Given the description of an element on the screen output the (x, y) to click on. 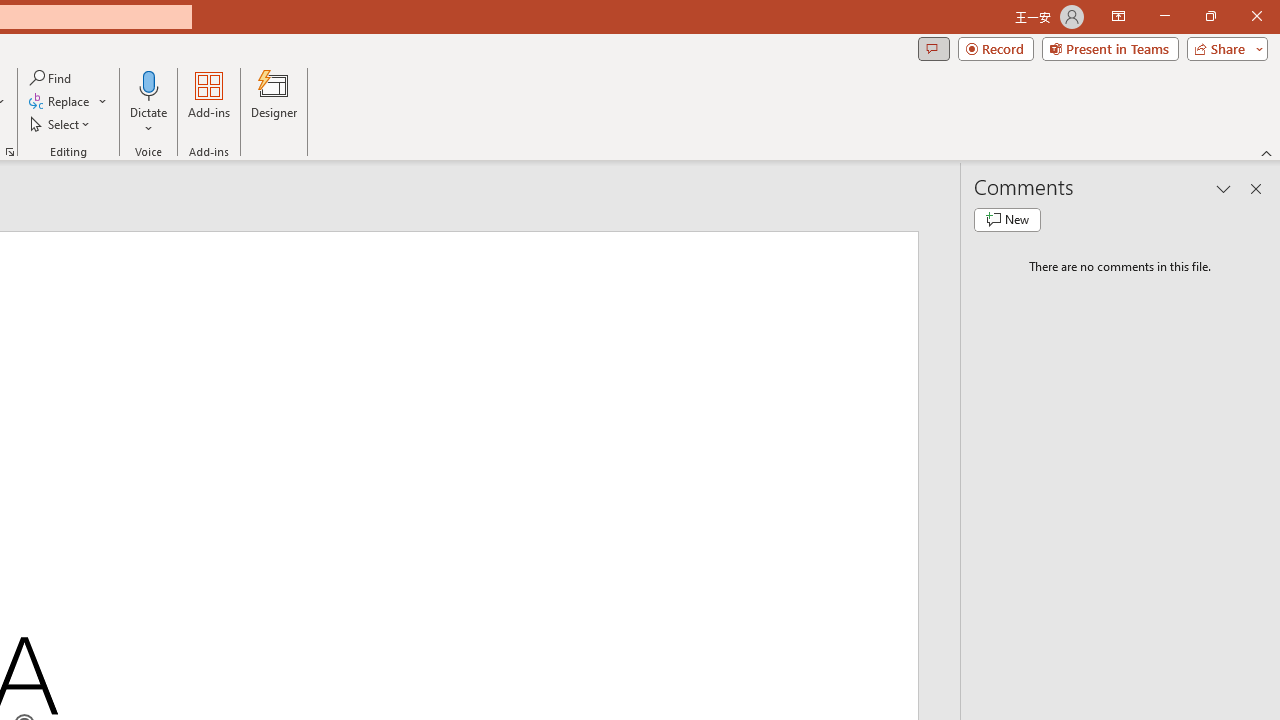
New comment (1007, 219)
